Given the description of an element on the screen output the (x, y) to click on. 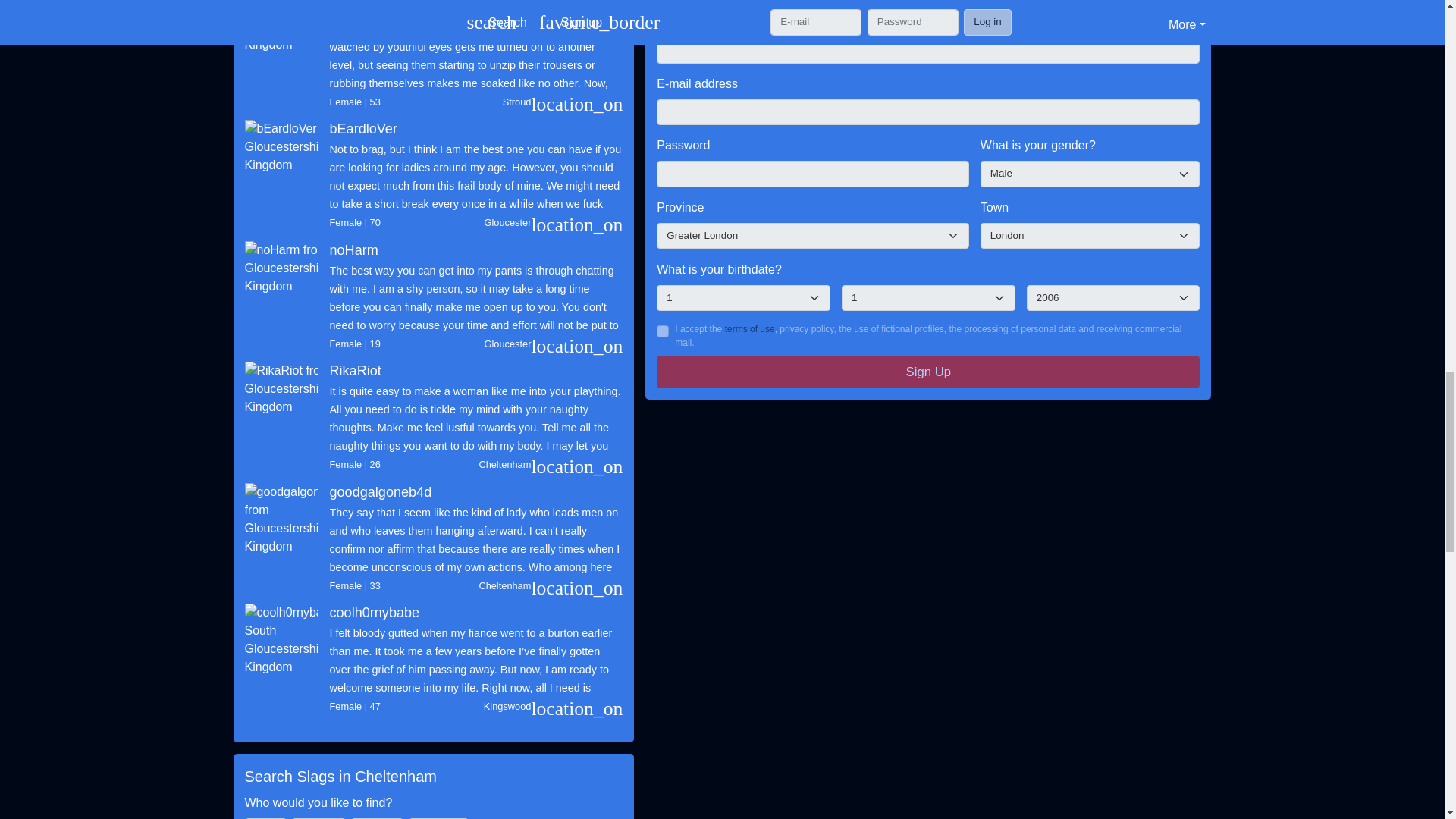
1 (662, 331)
